Given the description of an element on the screen output the (x, y) to click on. 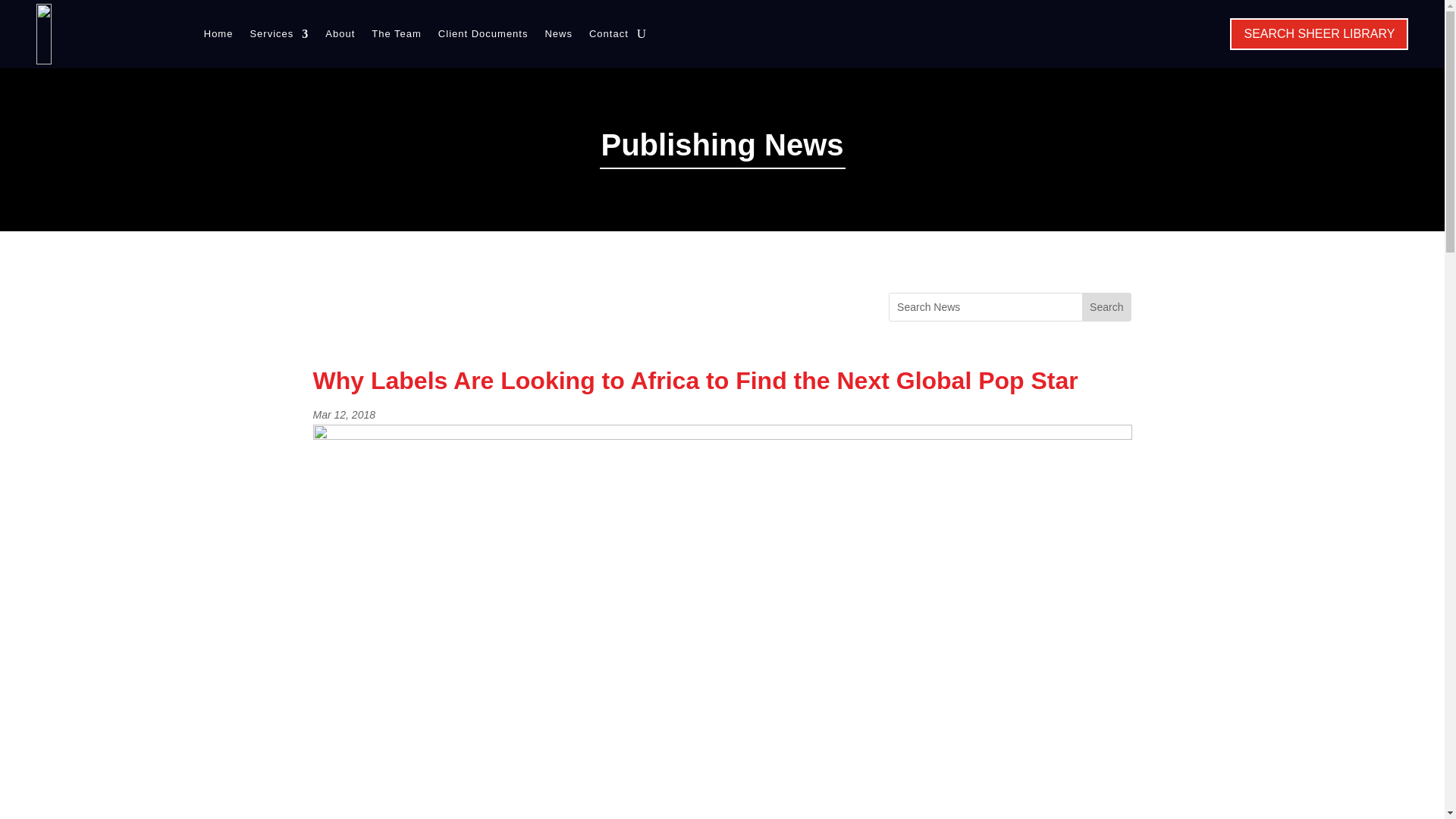
Services (278, 34)
Search (1106, 307)
Search (1106, 307)
Client Documents (483, 34)
Search (1106, 307)
SEARCH SHEER LIBRARY (1318, 33)
